Given the description of an element on the screen output the (x, y) to click on. 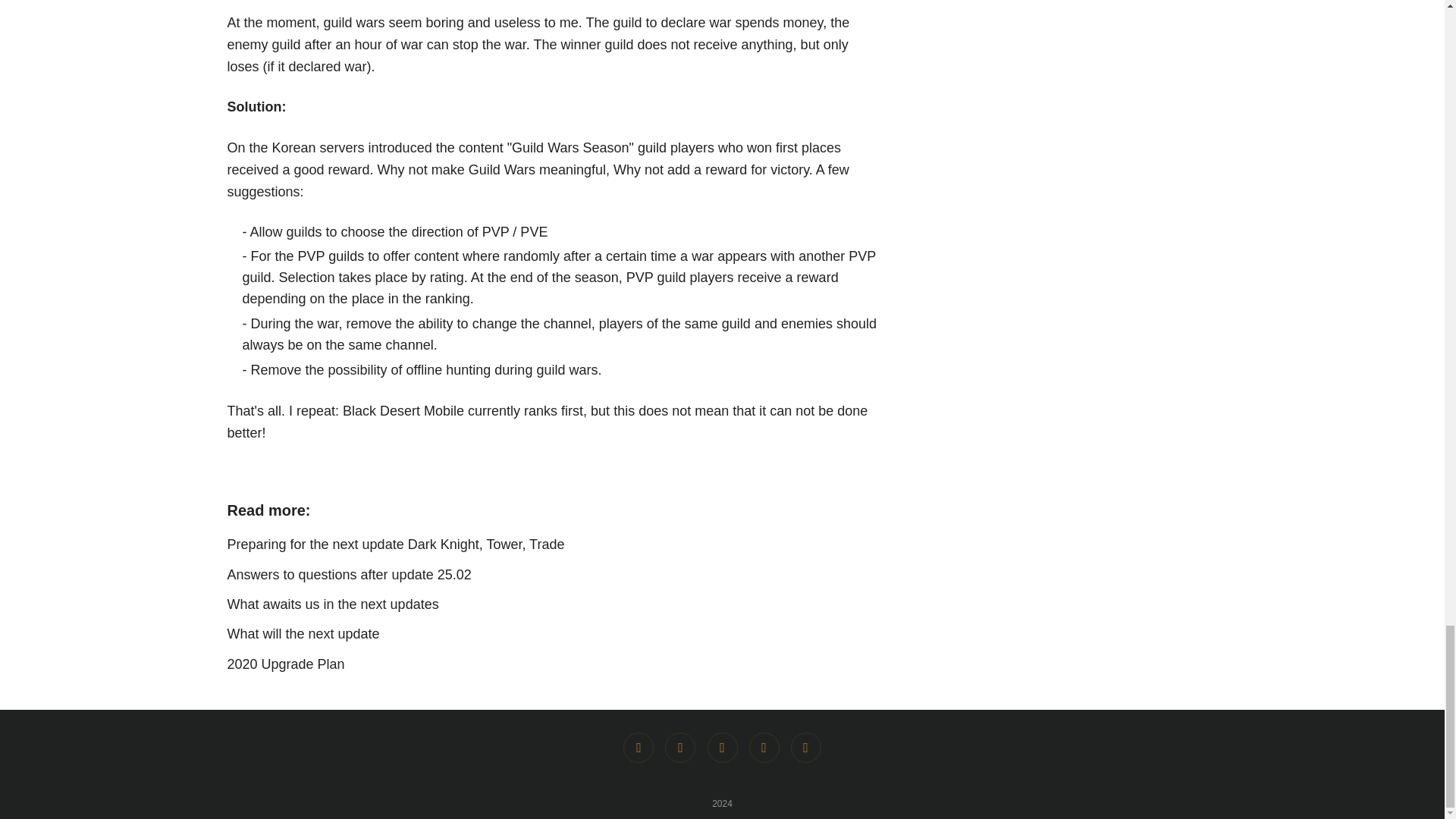
YouTube Electra (805, 747)
Preparing for the next update Dark Knight, Tower, Trade (395, 544)
YouTube Smithy (763, 747)
